Given the description of an element on the screen output the (x, y) to click on. 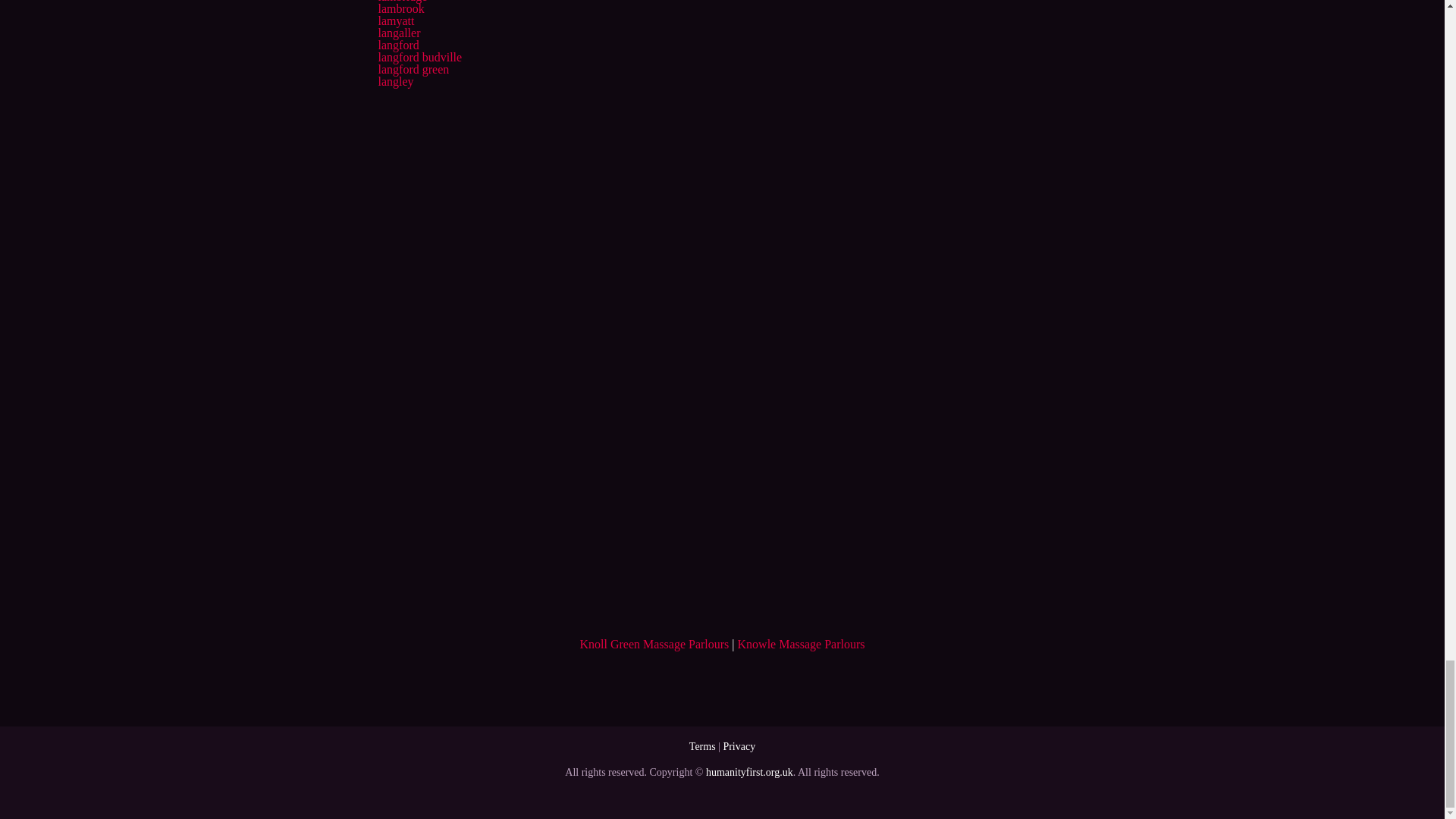
lambrook (400, 8)
langaller (398, 32)
Knowle Massage Parlours (801, 644)
Terms (702, 746)
Privacy (738, 746)
langford (398, 44)
langford budville (419, 56)
humanityfirst.org.uk (749, 772)
Terms (702, 746)
lambridge (401, 1)
